Given the description of an element on the screen output the (x, y) to click on. 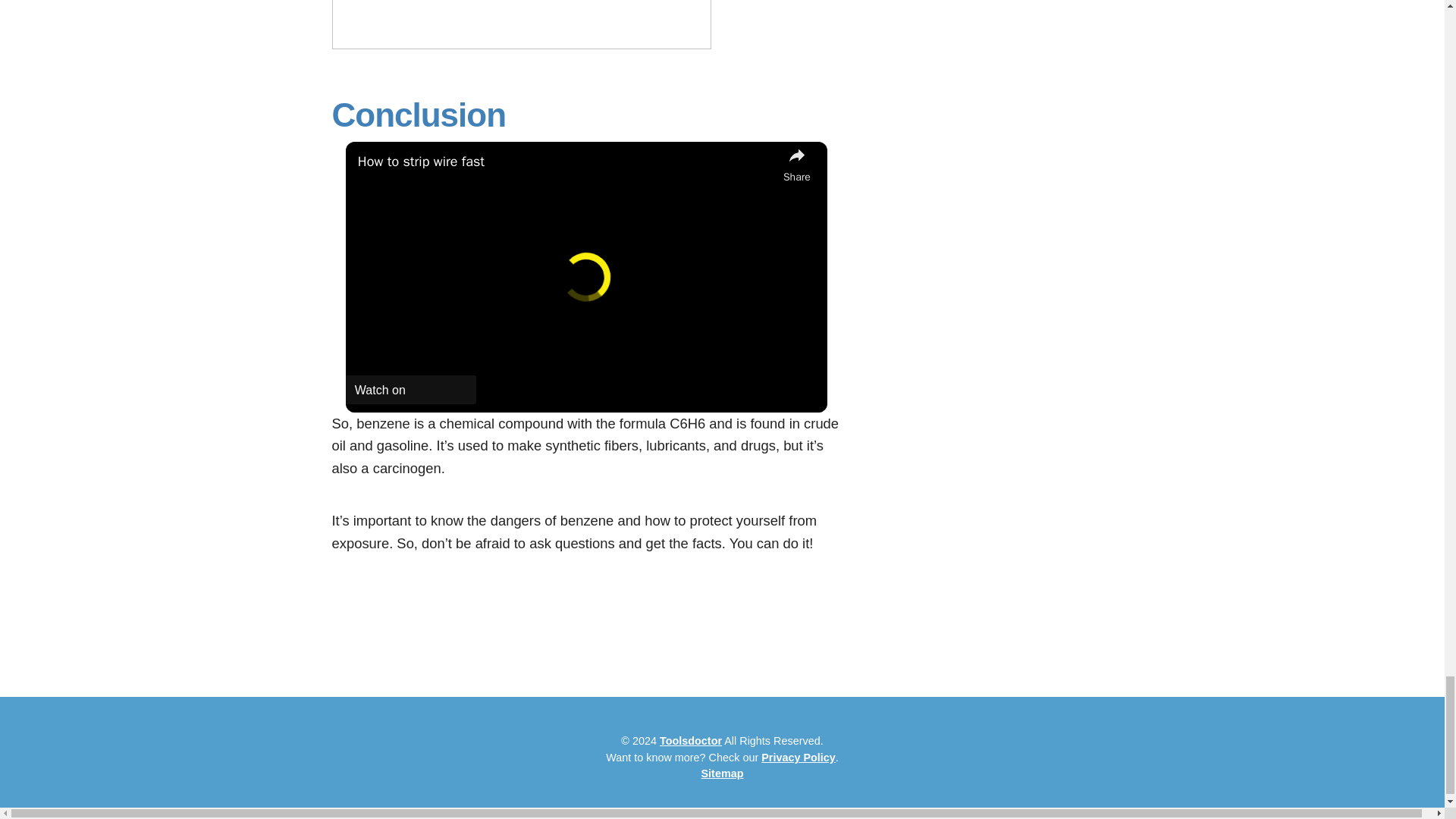
Watch on (411, 389)
Share (796, 163)
Tools Doctor (690, 740)
Privacy Policy (798, 757)
How to strip wire fast (567, 161)
share (796, 163)
Toolsdoctor (690, 740)
Sitemap (721, 773)
